Given the description of an element on the screen output the (x, y) to click on. 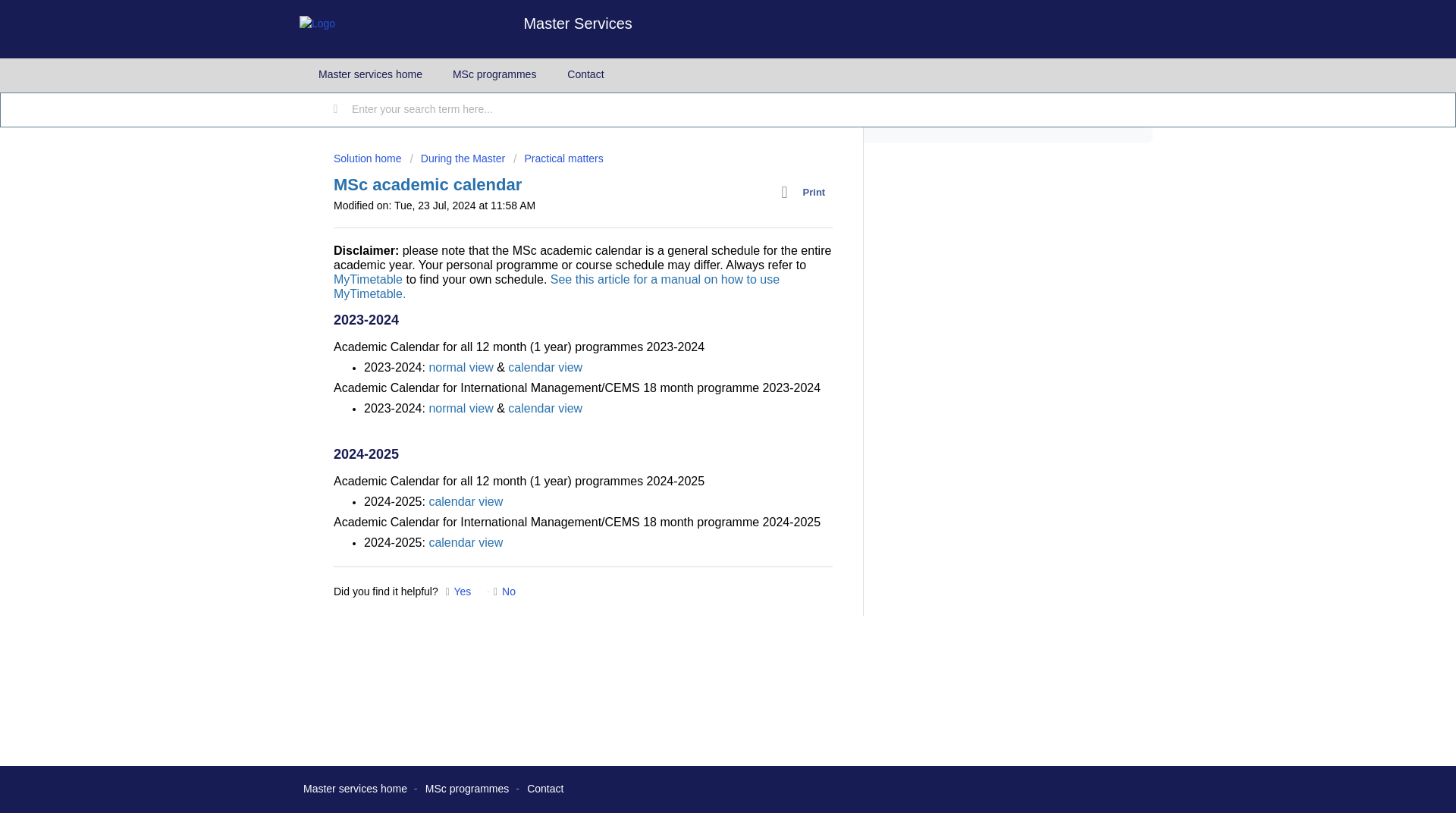
Master services home (354, 788)
calendar view (465, 501)
MSc programmes (494, 74)
calendar view (545, 408)
calendar view (545, 367)
Print (806, 192)
MyTimetable (368, 278)
During the Master (457, 158)
Contact (545, 788)
calendar view (465, 542)
Print this Article (806, 192)
Contact (585, 74)
MSc programmes (466, 788)
Master services home (370, 74)
normal view (460, 408)
